Given the description of an element on the screen output the (x, y) to click on. 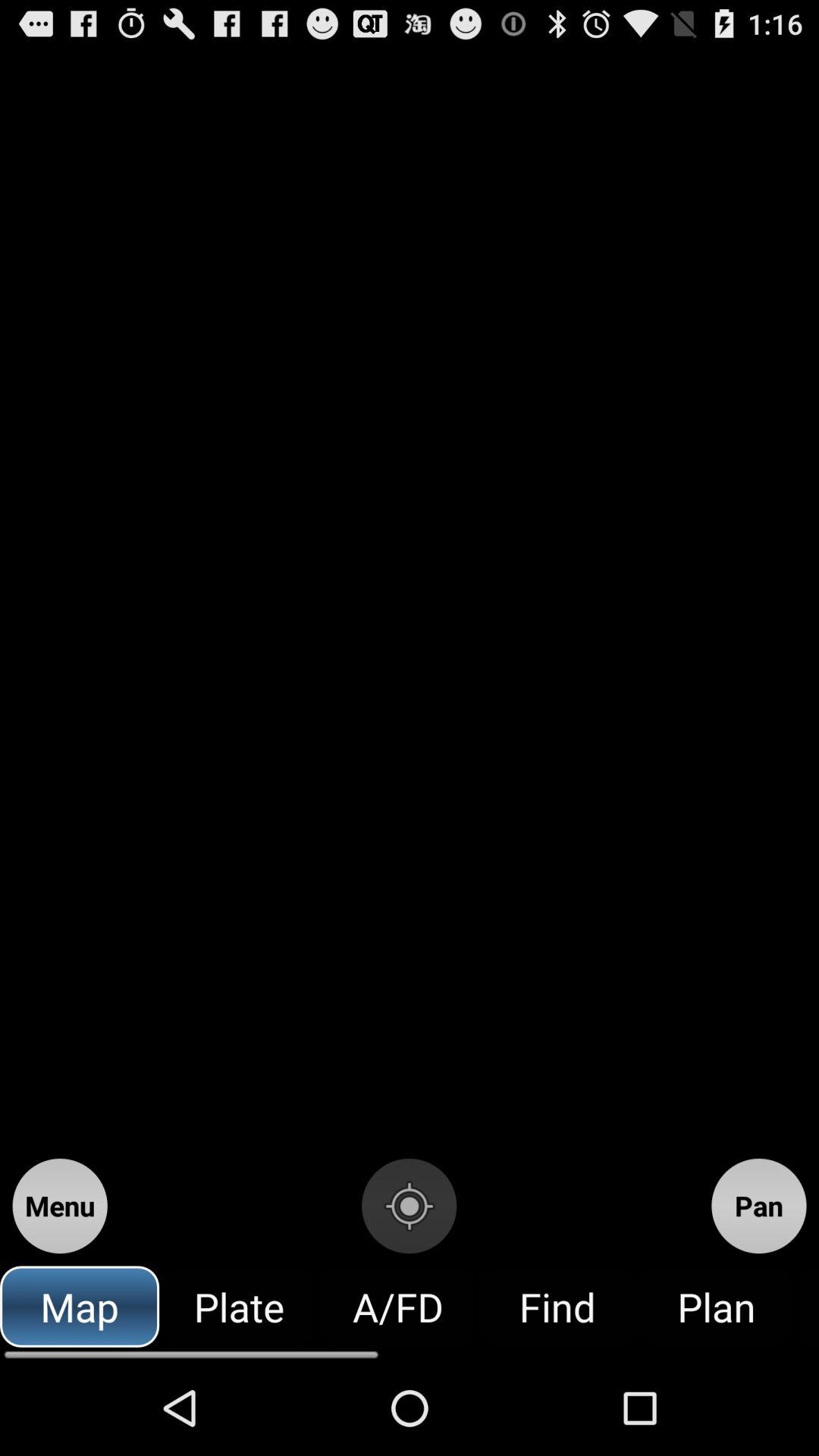
turn on the item above the a/fd icon (408, 1205)
